Given the description of an element on the screen output the (x, y) to click on. 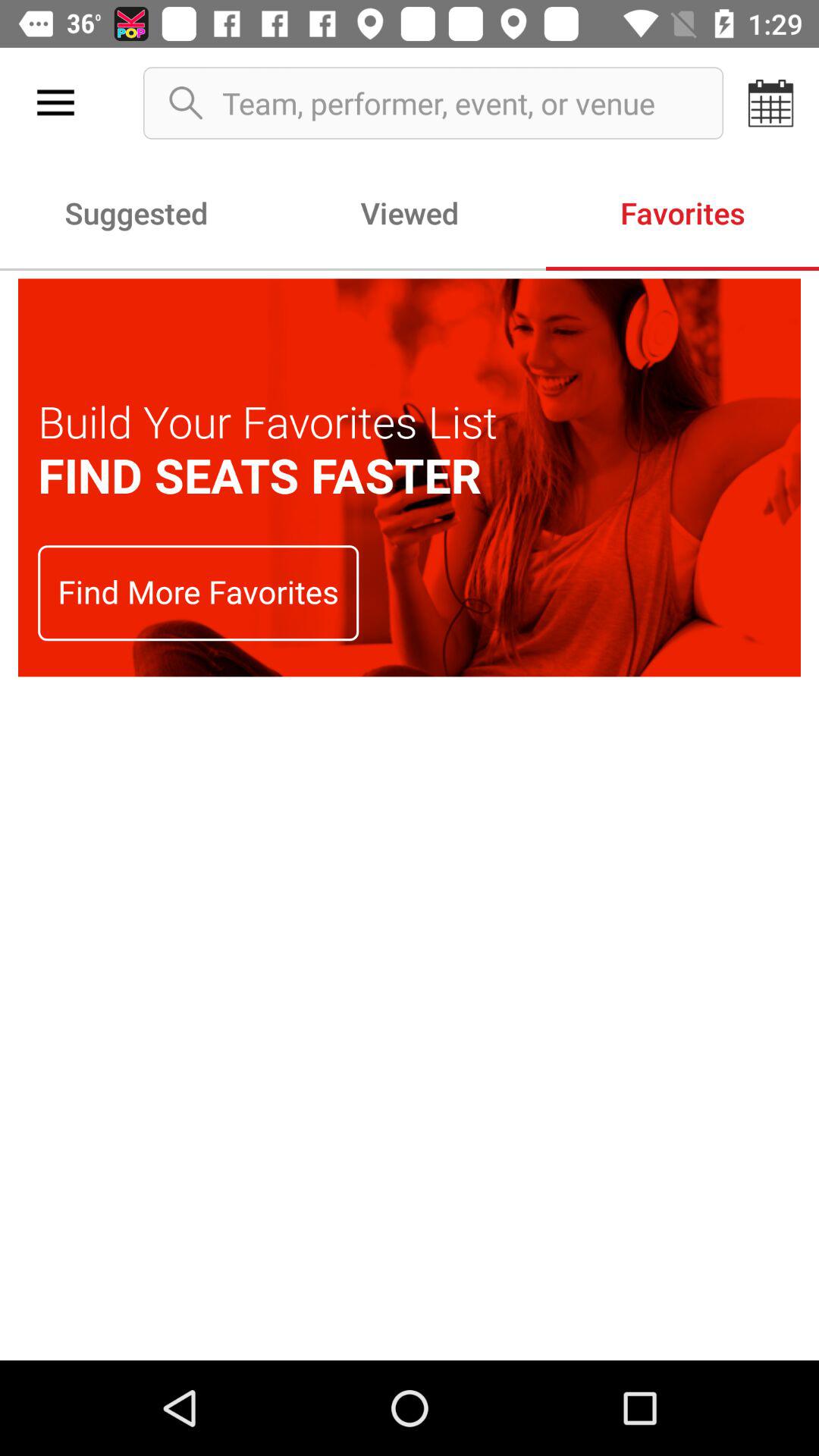
jump to viewed (409, 212)
